Given the description of an element on the screen output the (x, y) to click on. 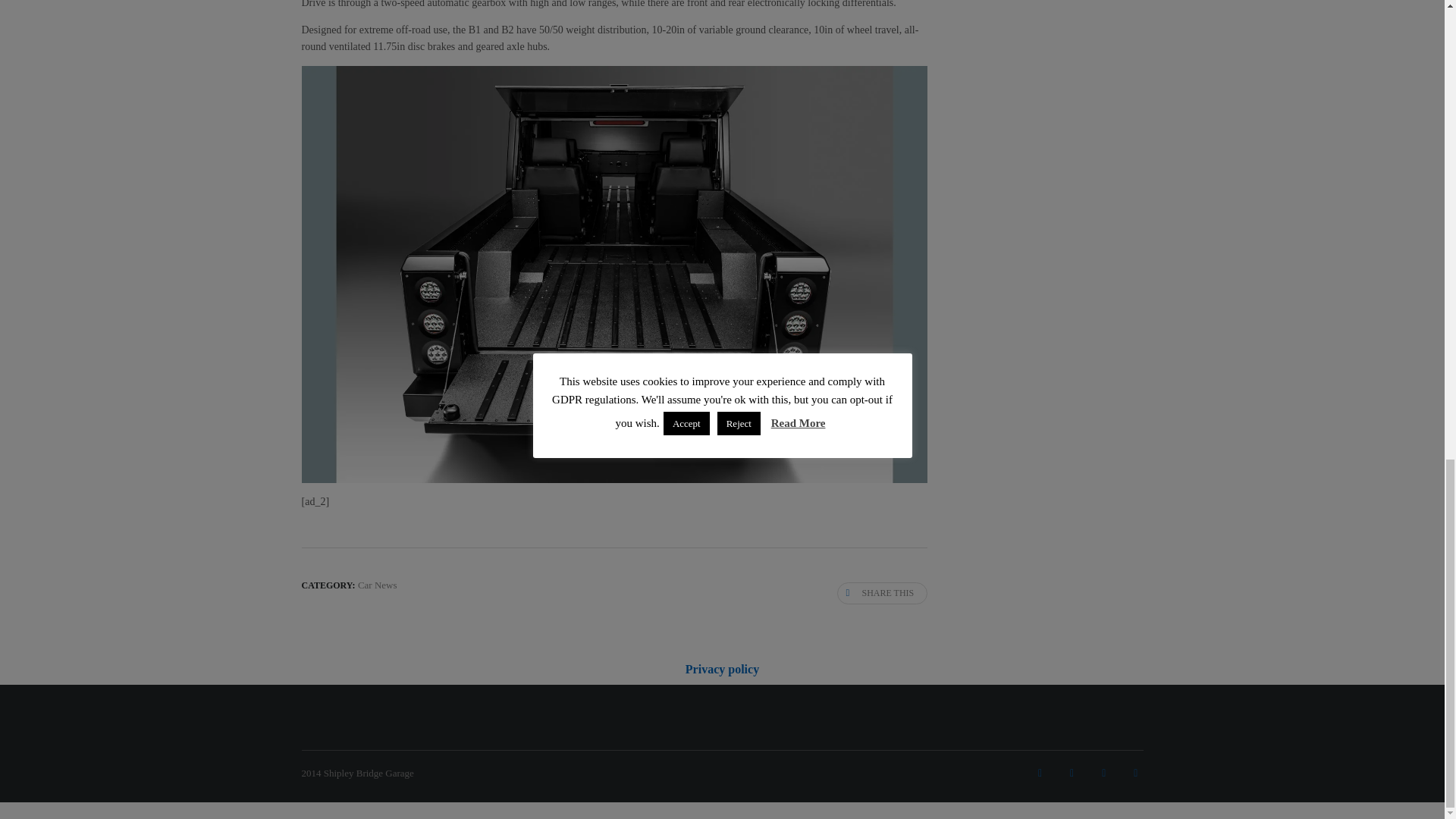
SHARE THIS (882, 593)
Share this (882, 593)
Car News (377, 584)
